Given the description of an element on the screen output the (x, y) to click on. 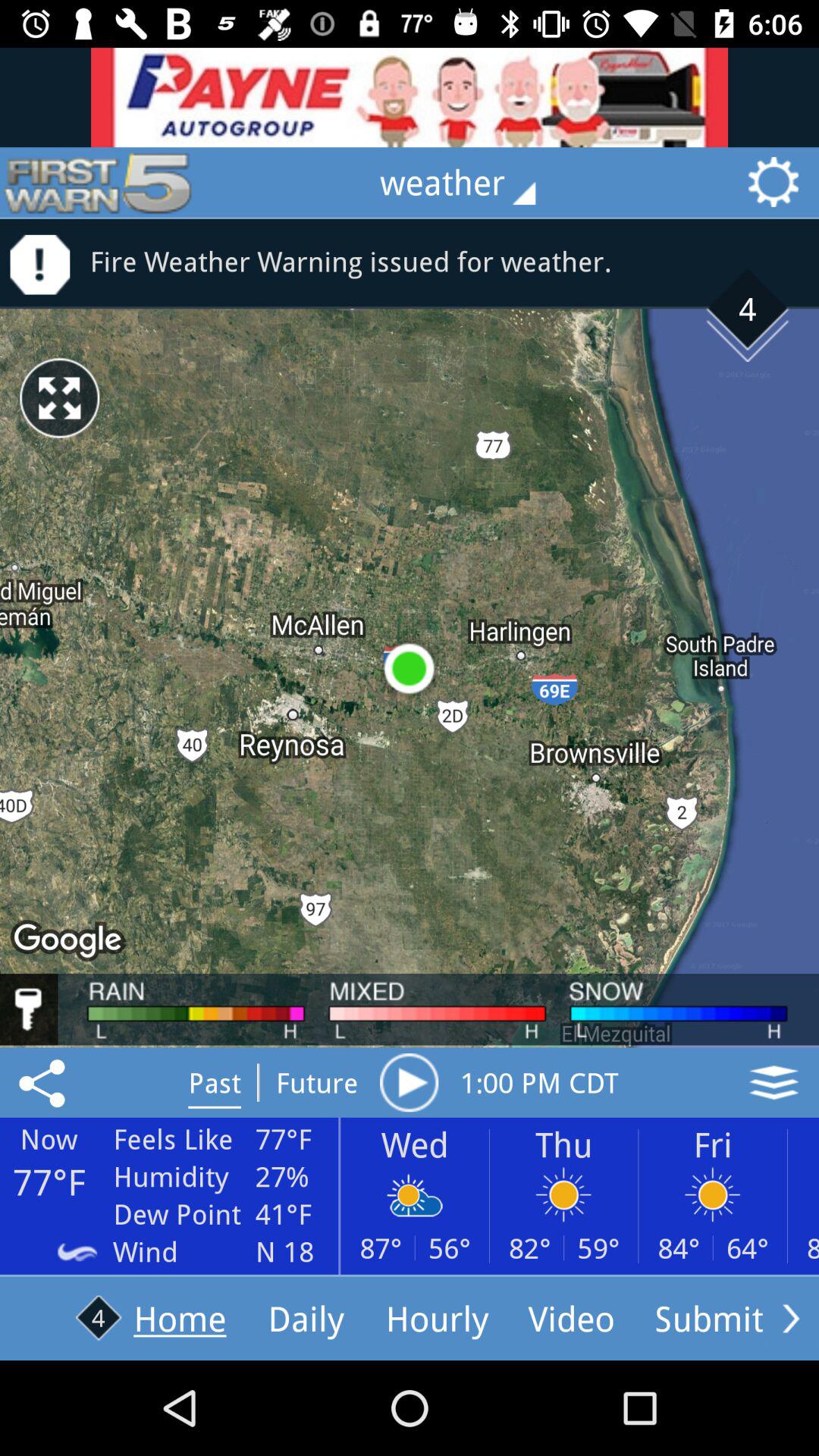
open map layers (774, 1082)
